Given the description of an element on the screen output the (x, y) to click on. 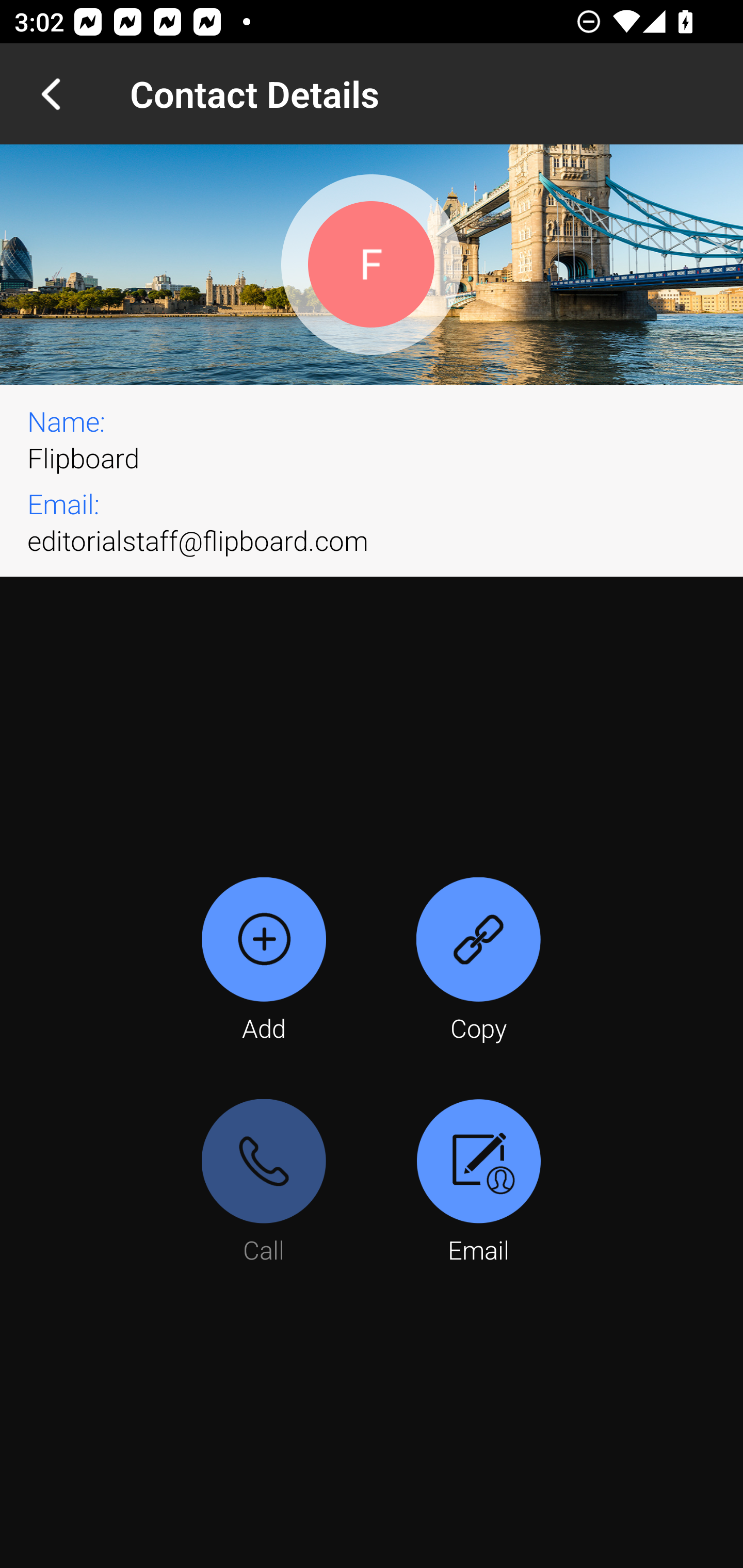
Navigate up (50, 93)
Add (264, 961)
Copy (478, 961)
Call (264, 1182)
Email (478, 1182)
